Given the description of an element on the screen output the (x, y) to click on. 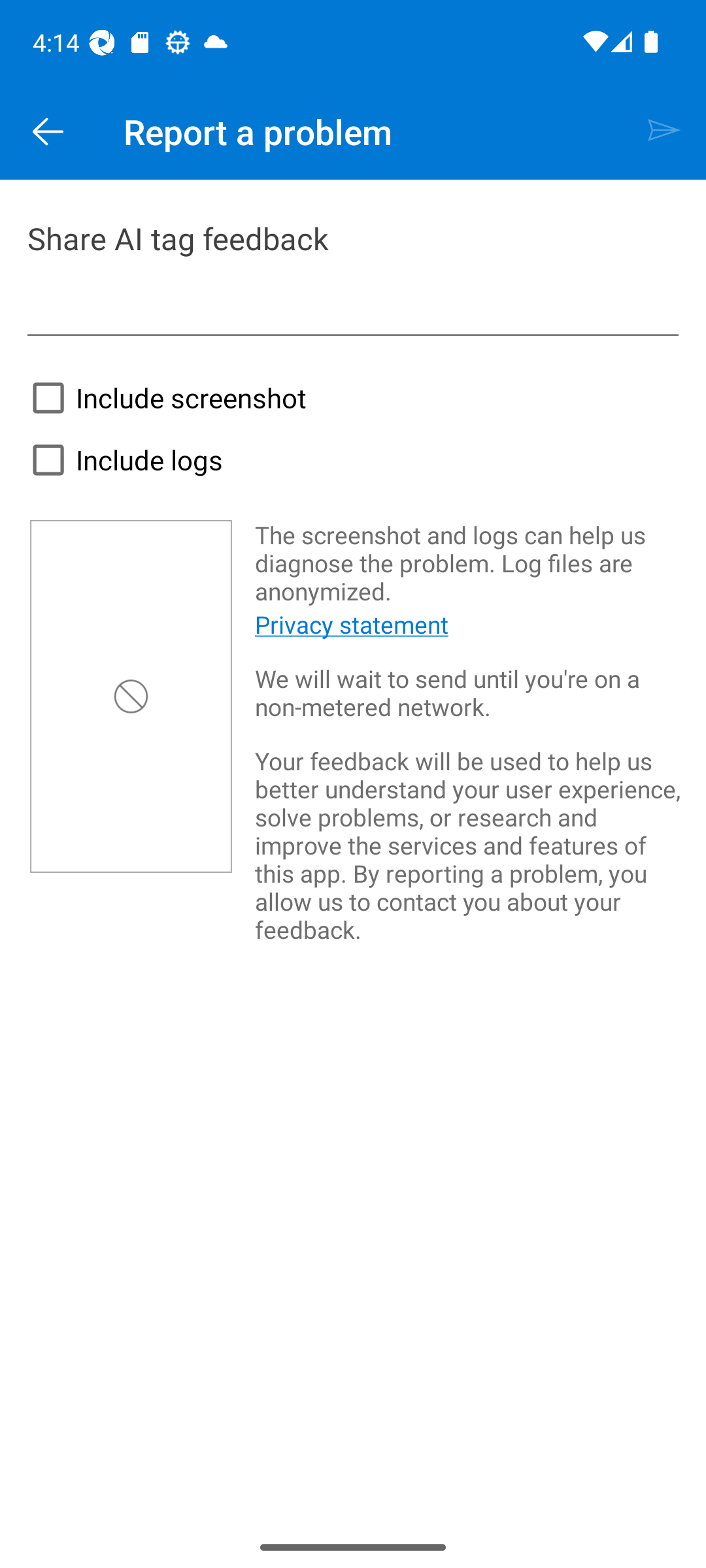
Navigate up (48, 131)
Send (664, 131)
Share AI tag feedback (352, 274)
Include screenshot (163, 397)
Include logs (122, 459)
